Given the description of an element on the screen output the (x, y) to click on. 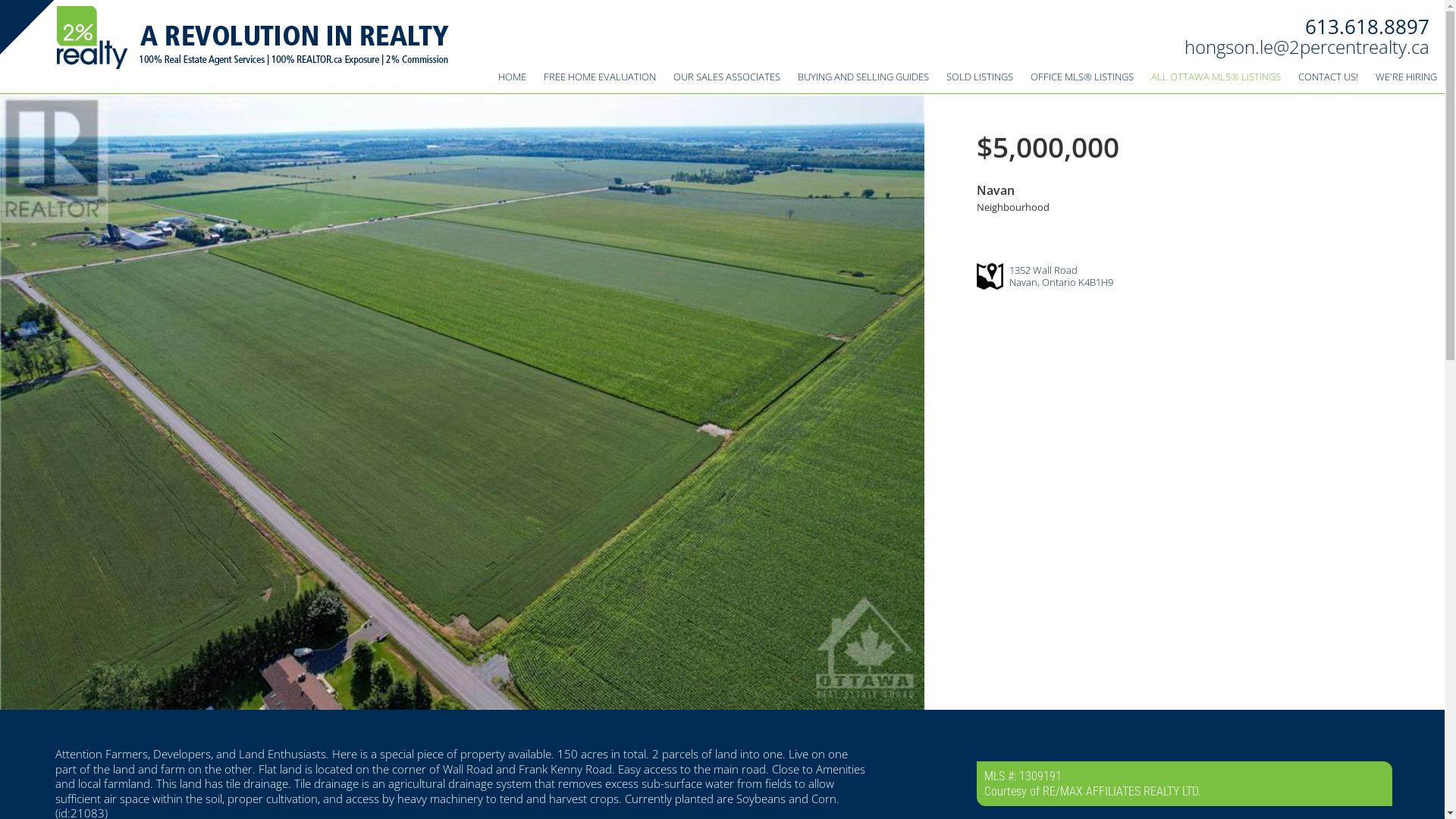
OUR SALES ASSOCIATES Element type: text (726, 76)
FREE HOME EVALUATION Element type: text (599, 76)
CONTACT US! Element type: text (1327, 76)
SOLD LISTINGS Element type: text (979, 76)
hongson.le@2percentrealty.ca Element type: text (1306, 46)
HOME Element type: text (511, 76)
1352 Wall Road
Navan, Ontario K4B1H9 Element type: text (1061, 275)
WE'RE HIRING Element type: text (1406, 76)
BUYING AND SELLING GUIDES Element type: text (863, 76)
